Given the description of an element on the screen output the (x, y) to click on. 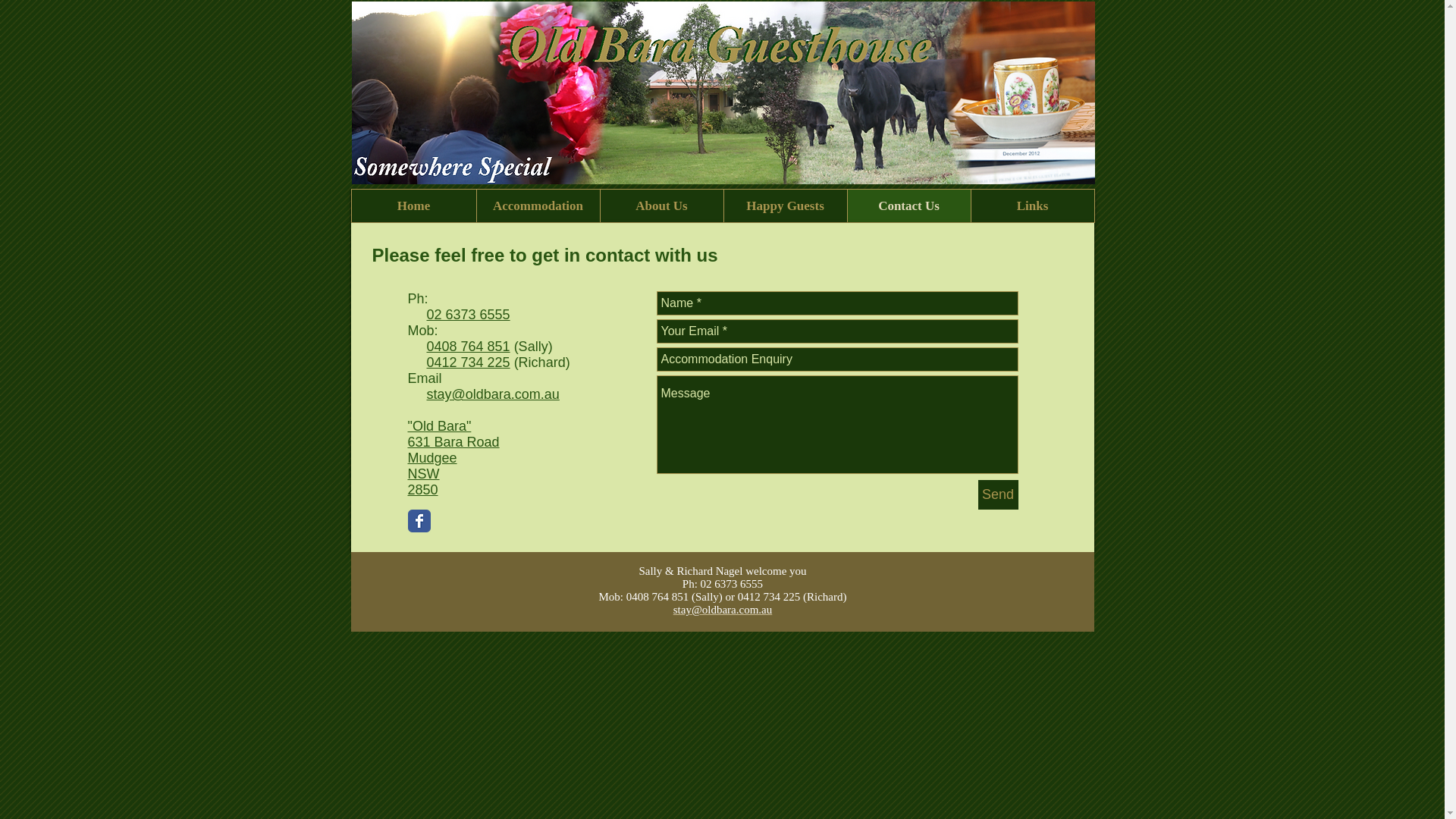
About Us Element type: text (660, 205)
2850 Element type: text (422, 489)
0412 734 225 Element type: text (468, 362)
stay@oldbara.com.au Element type: text (492, 393)
Send Element type: text (998, 494)
Home Element type: text (413, 205)
631 Bara Road Element type: text (453, 441)
Banner - Old Bara Guesthouse Mudgee Element type: hover (723, 92)
NSW Element type: text (423, 473)
0408 764 851 Element type: text (468, 346)
Happy Guests Element type: text (785, 205)
stay@oldbara.com.au Element type: text (722, 609)
Contact Us Element type: text (907, 205)
Accommodation Element type: text (537, 205)
Links Element type: text (1032, 205)
02 6373 6555 Element type: text (468, 314)
Mudgee Element type: text (432, 457)
